Given the description of an element on the screen output the (x, y) to click on. 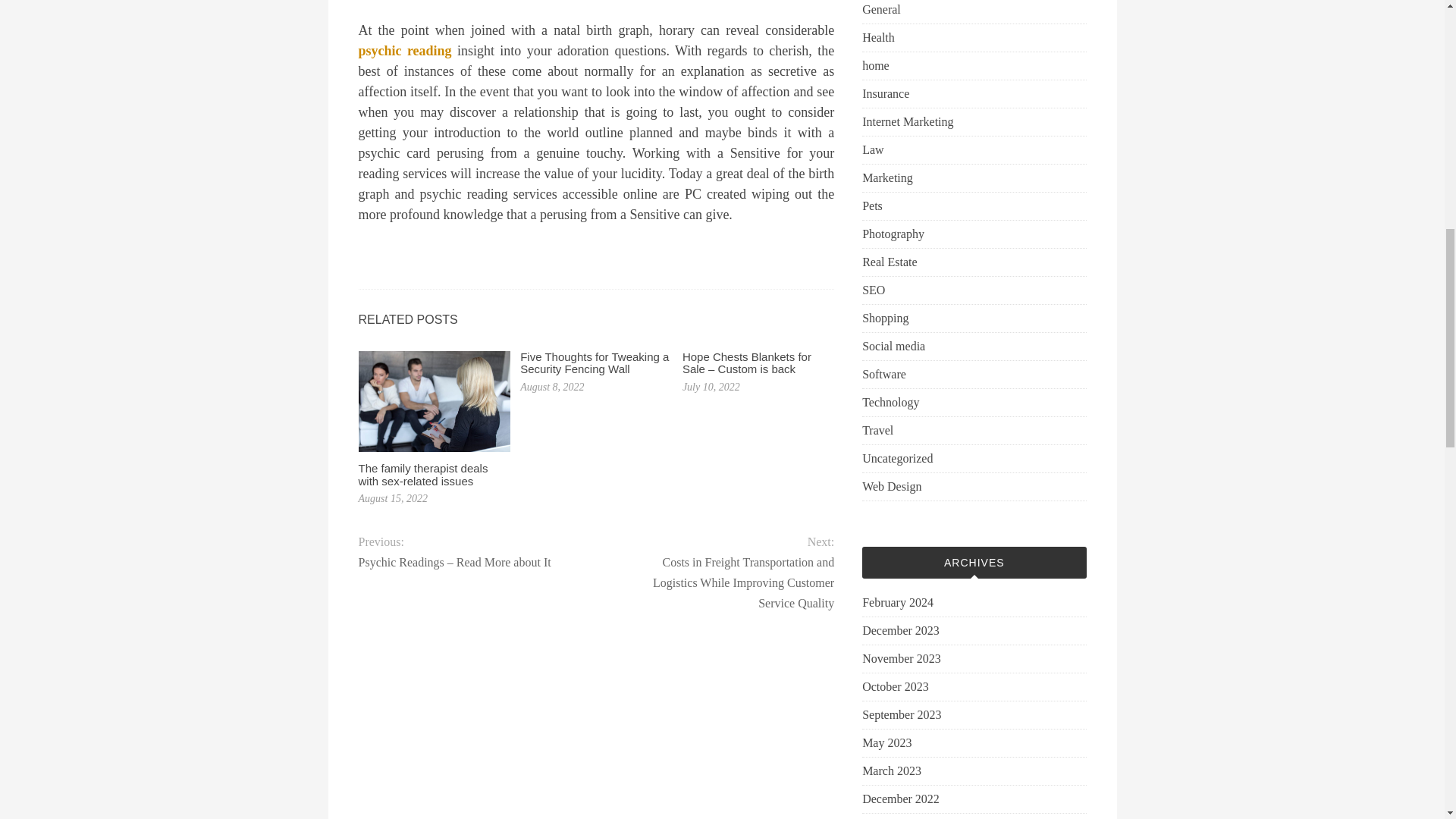
Health (878, 37)
Insurance (884, 94)
The family therapist deals with sex-related issues (422, 474)
Five Thoughts for Tweaking a Security Fencing Wall (593, 362)
Pets (871, 206)
Law (872, 149)
Internet Marketing (907, 122)
psychic reading (404, 50)
Marketing (886, 177)
General (881, 9)
home (875, 65)
